Given the description of an element on the screen output the (x, y) to click on. 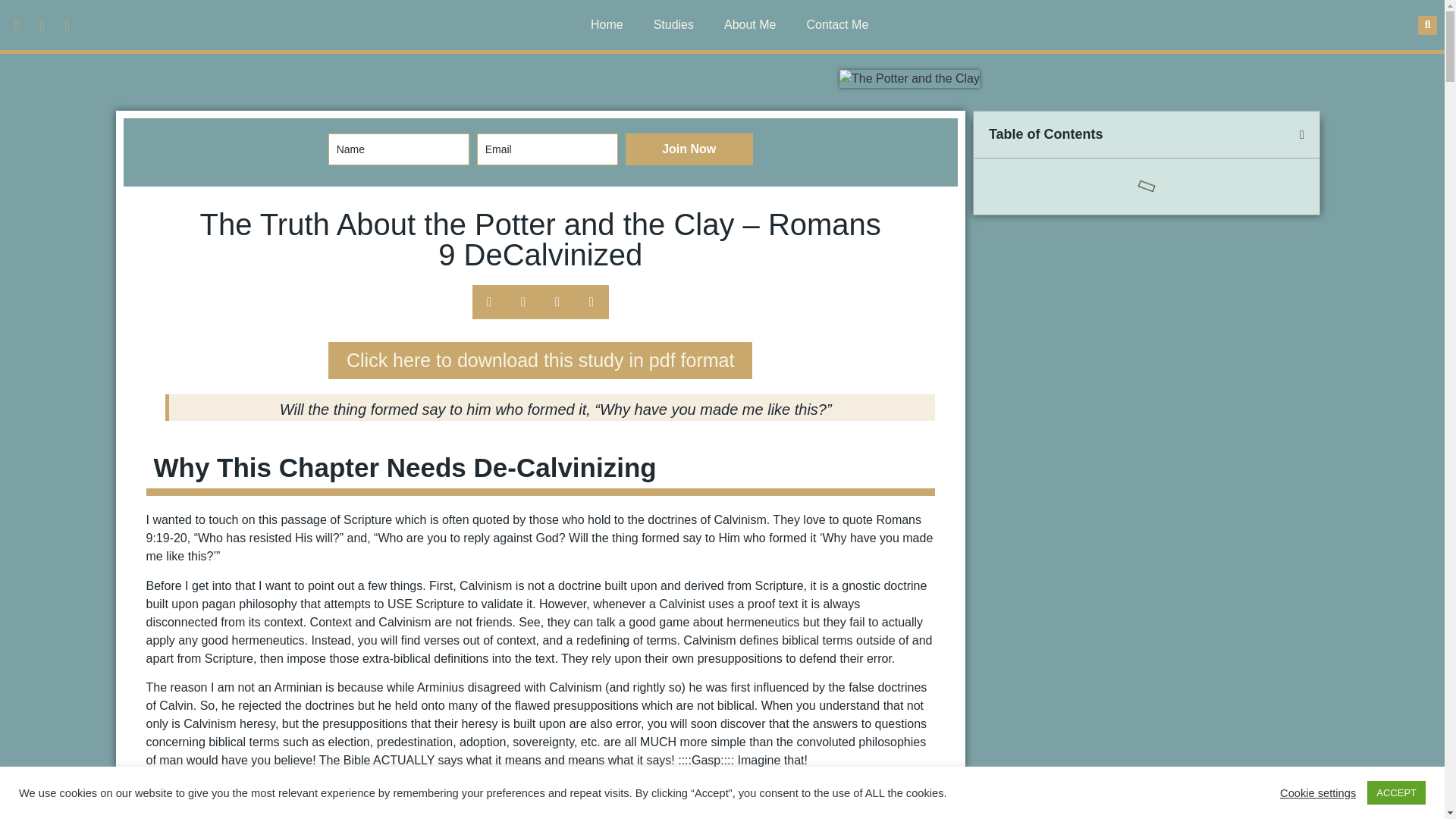
About Me (749, 24)
Contact Me (836, 24)
The Potter and the Clay (909, 78)
Studies (674, 24)
Home (607, 24)
